Given the description of an element on the screen output the (x, y) to click on. 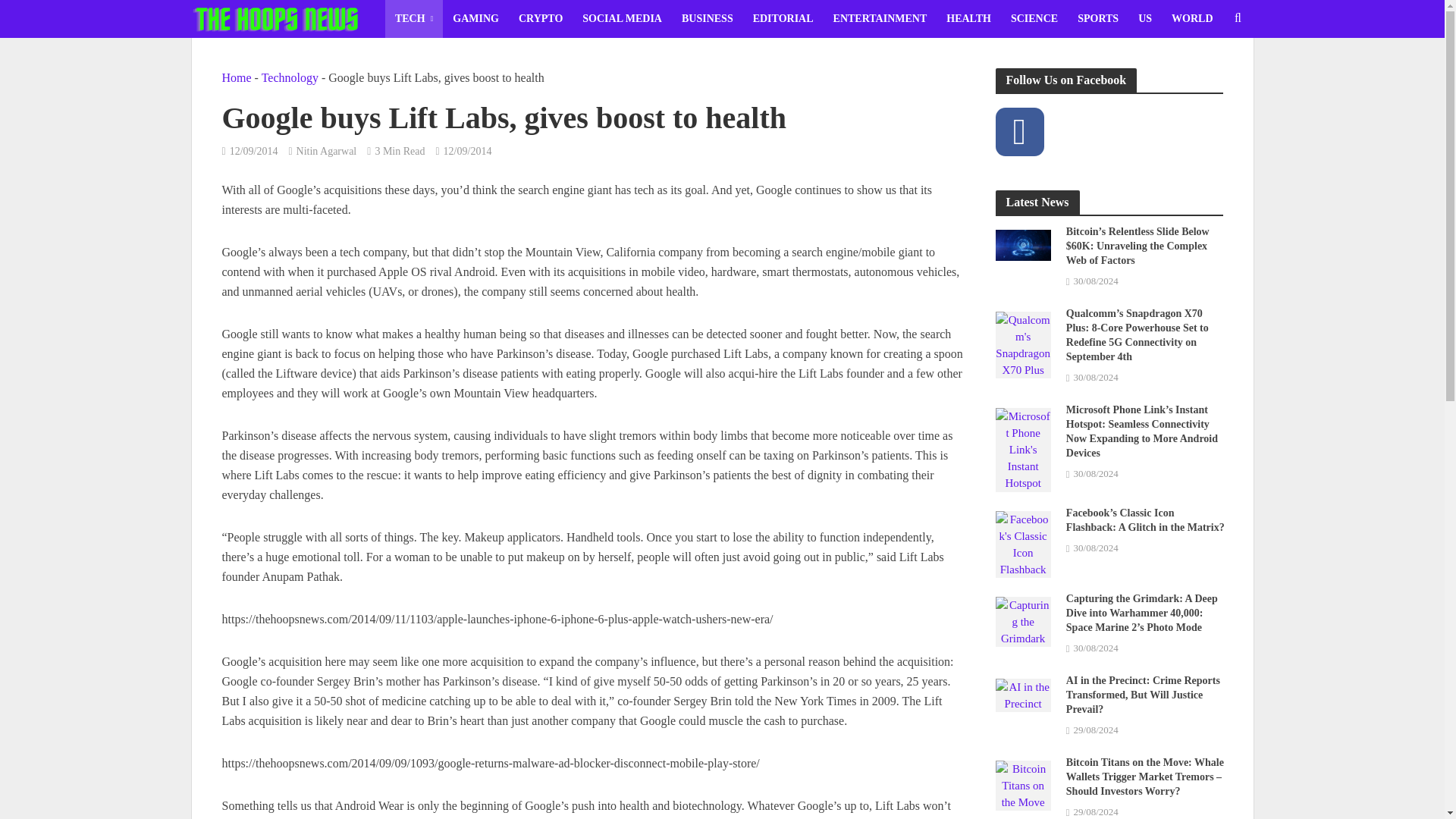
BUSINESS (706, 18)
WORLD (1192, 18)
TECH (413, 18)
ENTERTAINMENT (880, 18)
Facebook (1018, 131)
SPORTS (1097, 18)
Home (235, 77)
HEALTH (968, 18)
GAMING (475, 18)
SCIENCE (1034, 18)
